Given the description of an element on the screen output the (x, y) to click on. 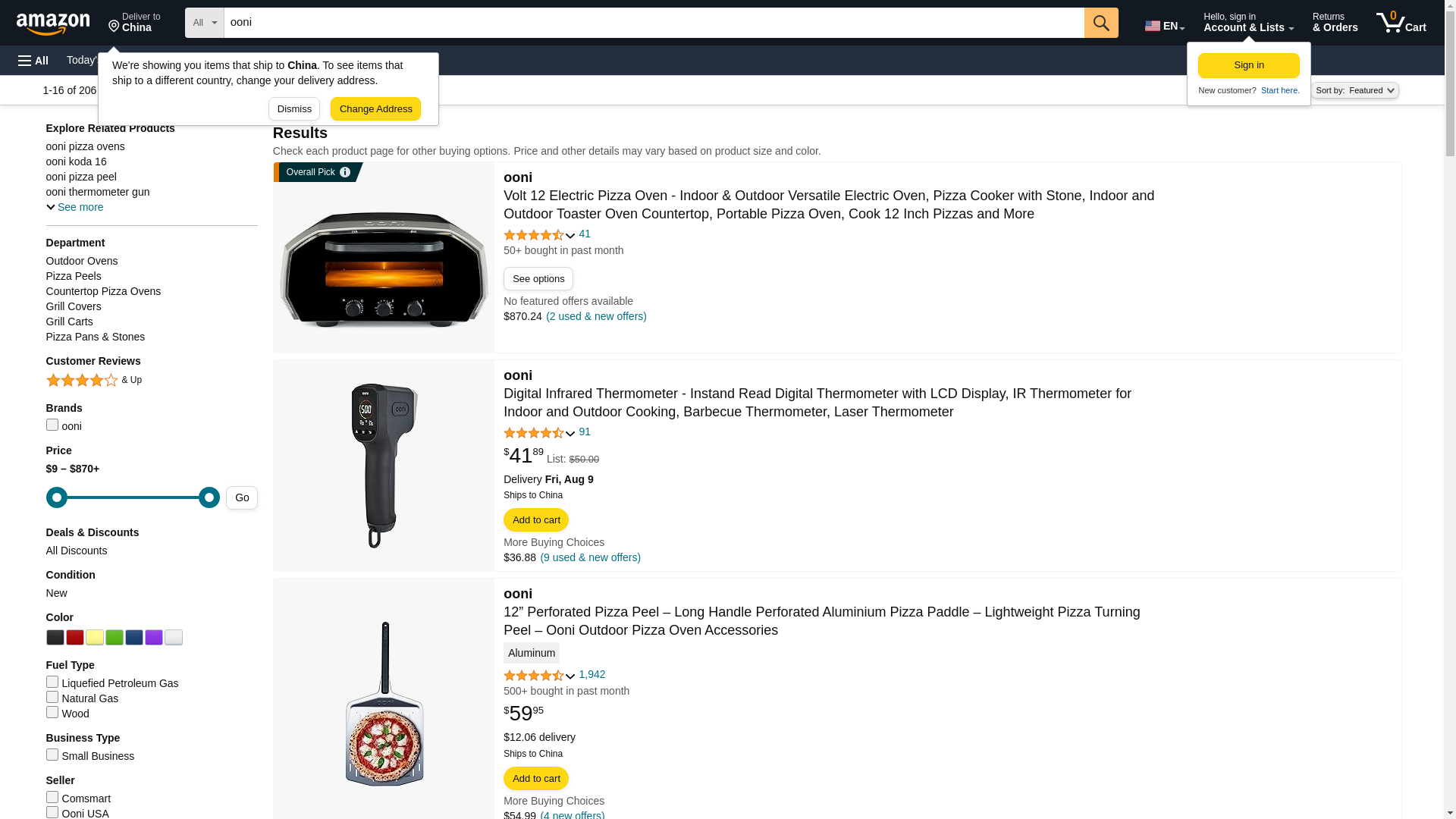
All (33, 60)
ooni (654, 22)
Today's Deals (134, 22)
Customer Service (99, 59)
Go (192, 59)
Start here. (1101, 22)
Skip to main content (1279, 90)
Sign in (60, 21)
0 (1249, 65)
Registry (133, 497)
41 (272, 59)
EN (585, 234)
Go (1163, 22)
150 (1101, 22)
